Given the description of an element on the screen output the (x, y) to click on. 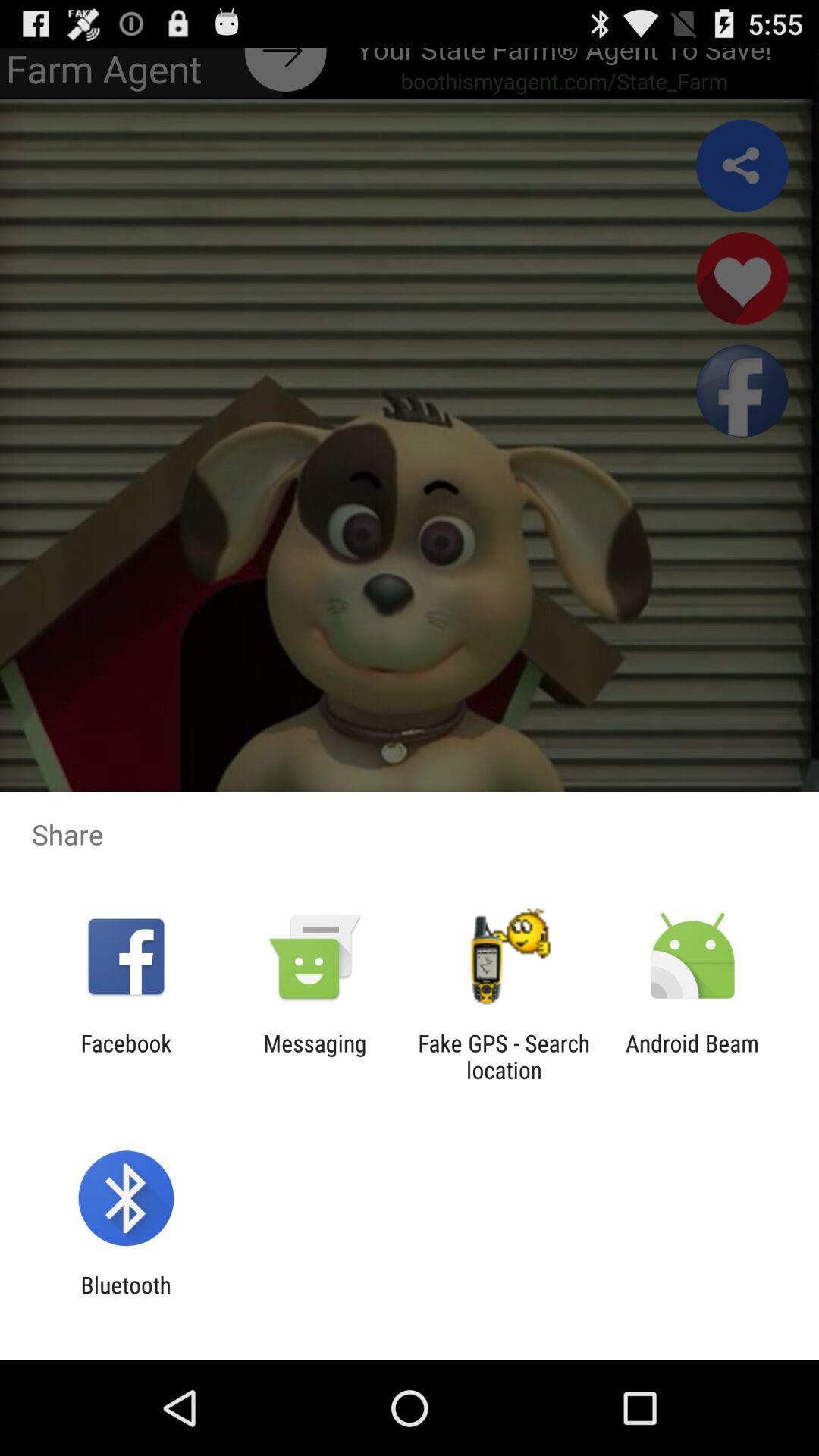
turn on the icon to the right of the facebook (314, 1056)
